Given the description of an element on the screen output the (x, y) to click on. 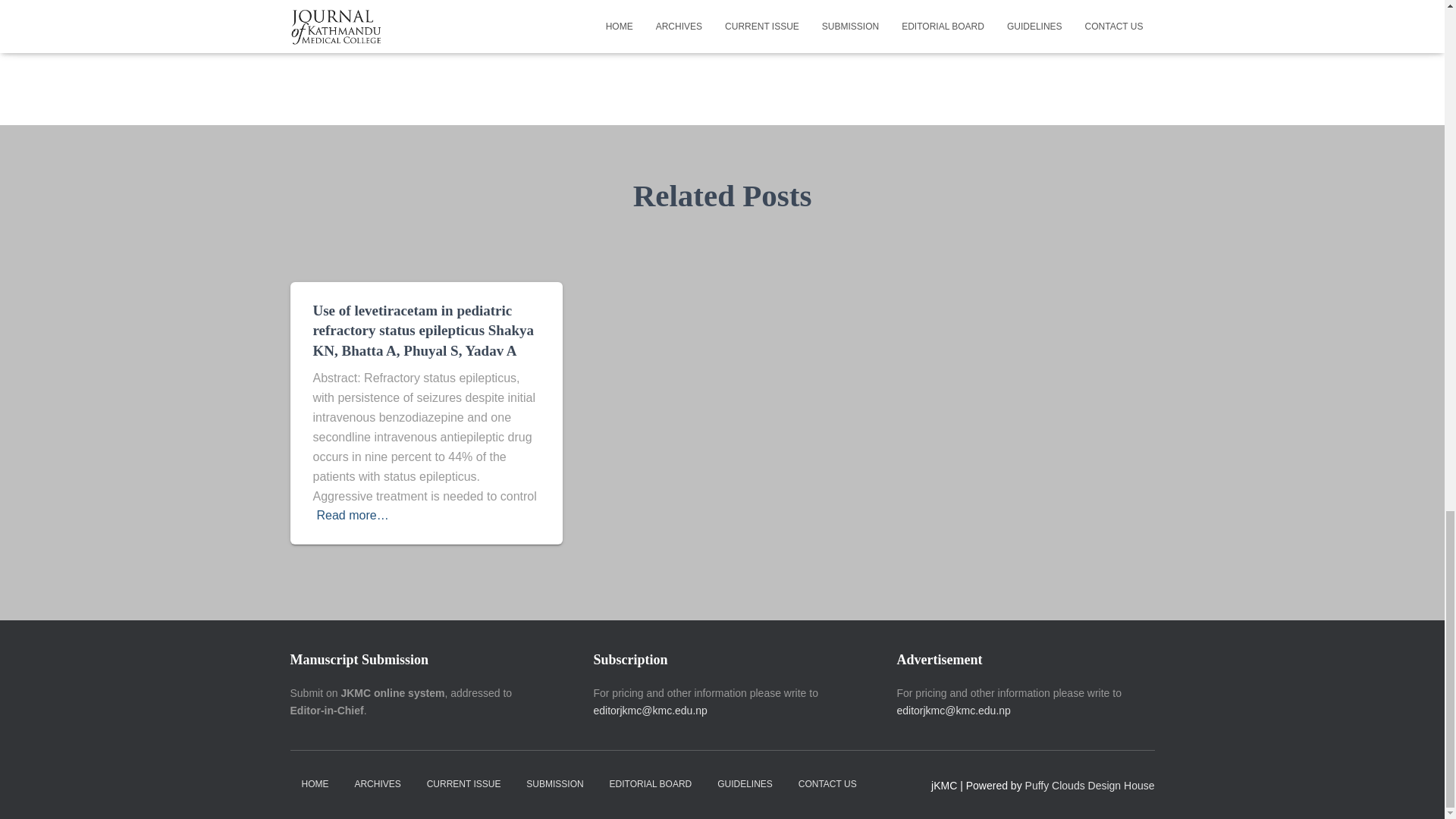
ARCHIVES (377, 784)
GUIDELINES (745, 784)
Puffy Clouds Design House (1089, 785)
Post Comment (944, 2)
CURRENT ISSUE (463, 784)
Post Comment (944, 2)
SUBMISSION (554, 784)
CONTACT US (827, 784)
